Given the description of an element on the screen output the (x, y) to click on. 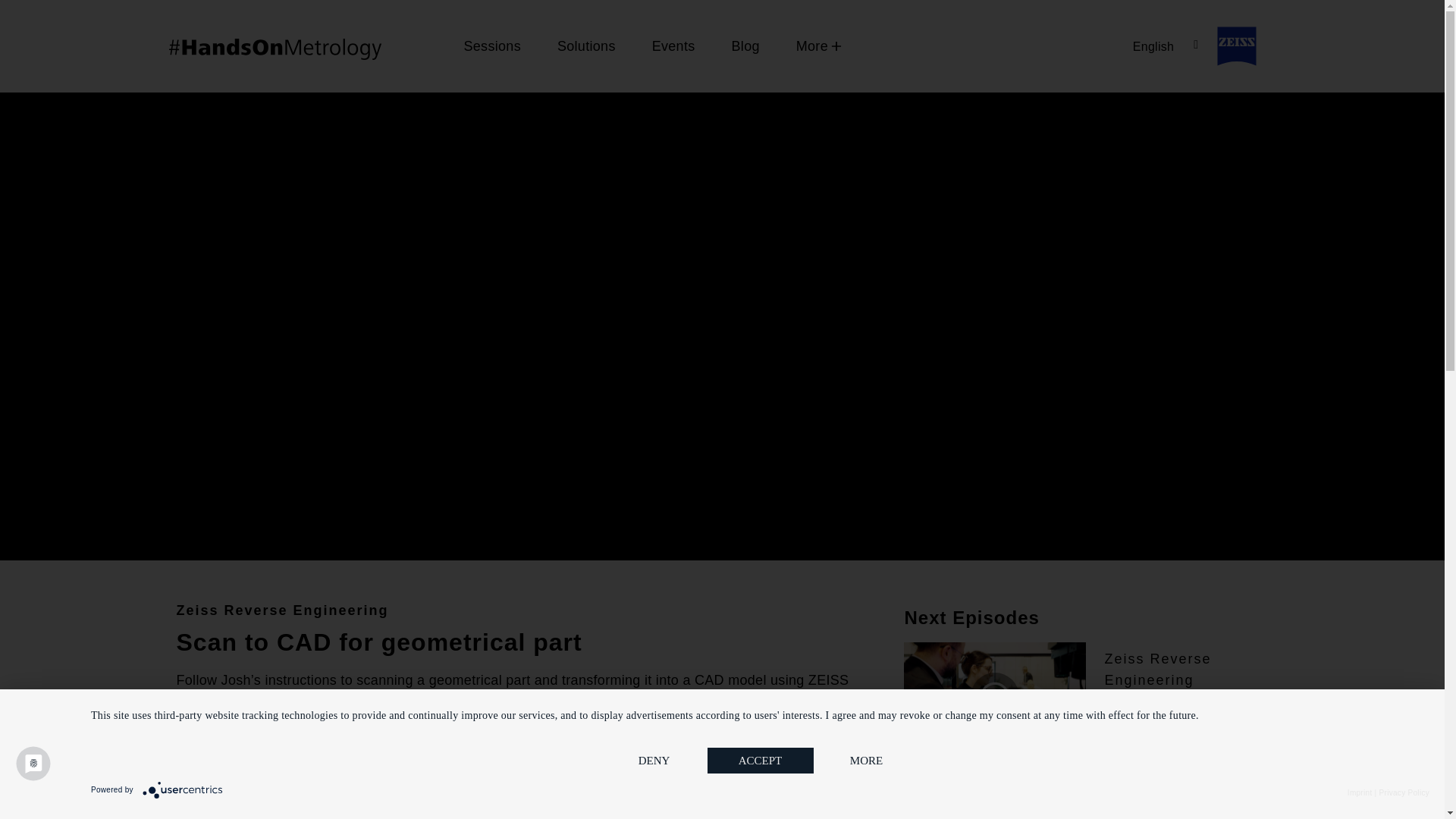
More (811, 46)
Solutions (585, 46)
Events (673, 46)
English (1165, 46)
Sessions (491, 46)
Blog (745, 46)
